Given the description of an element on the screen output the (x, y) to click on. 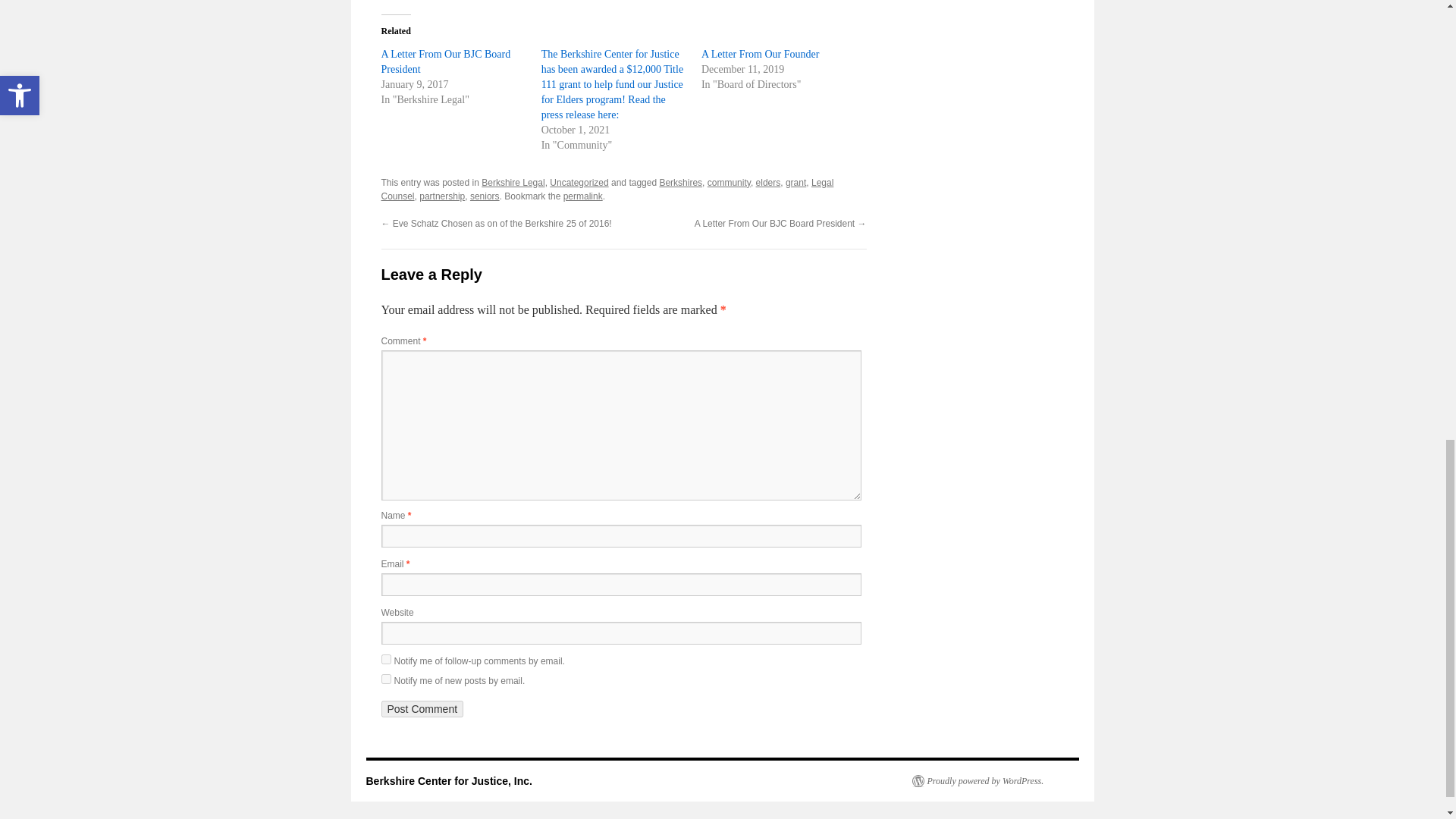
subscribe (385, 659)
Berkshires (680, 182)
A Letter From Our BJC Board President (445, 61)
subscribe (385, 678)
Berkshire Center for Justice, Inc. (448, 780)
community (729, 182)
Semantic Personal Publishing Platform (977, 780)
Post Comment (421, 709)
A Letter From Our Founder (760, 53)
A Letter From Our Founder (760, 53)
A Letter From Our BJC Board President (445, 61)
Uncategorized (579, 182)
Berkshire Legal (512, 182)
